Given the description of an element on the screen output the (x, y) to click on. 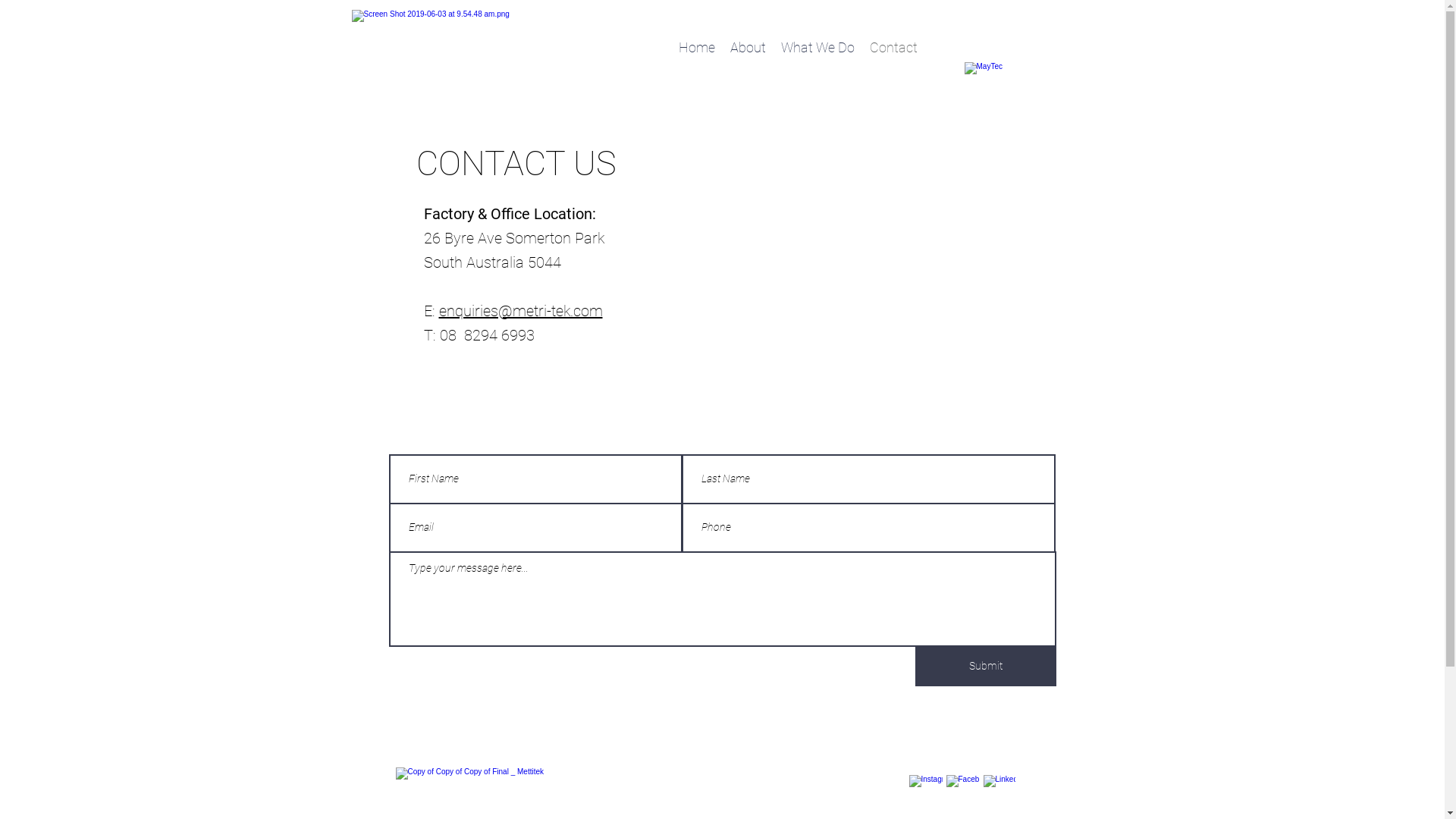
Submit Element type: text (984, 666)
Home Element type: text (828, 772)
What We Do Element type: text (817, 47)
E: Element type: text (430, 310)
enquiries@metri-tek.com Element type: text (520, 310)
About Element type: text (828, 799)
Google Maps Element type: hover (848, 296)
Contact Element type: text (892, 47)
Home Element type: text (695, 47)
About Element type: text (746, 47)
